Given the description of an element on the screen output the (x, y) to click on. 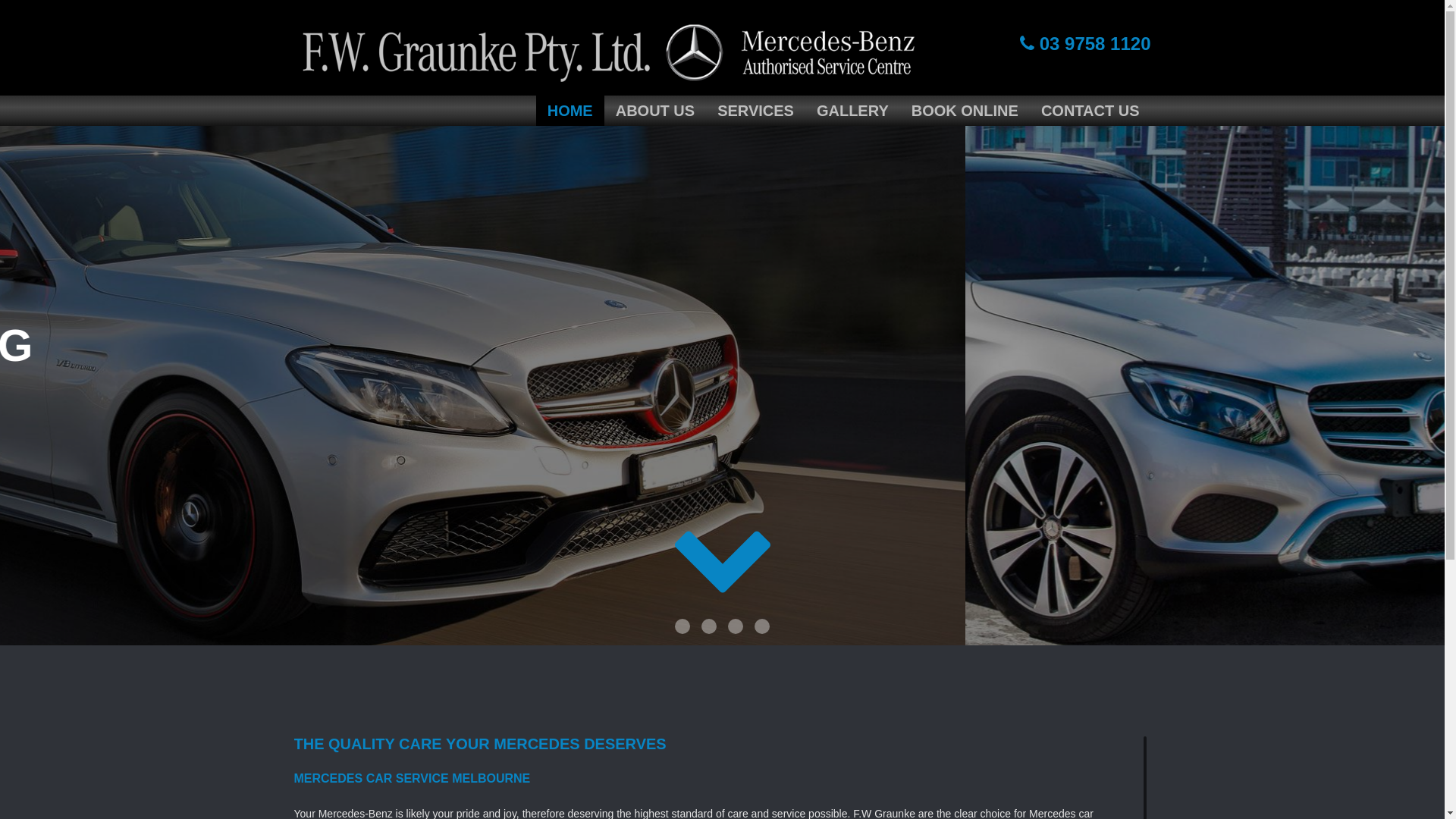
ABOUT US Element type: text (655, 110)
HOME Element type: text (570, 110)
Click here for more info Element type: text (126, 432)
GALLERY Element type: text (852, 110)
03 9758 1120 Element type: text (1084, 43)
SERVICES Element type: text (755, 110)
BOOK ONLINE Element type: text (964, 110)
F.W. Graunke Pty. Ltd. Element type: hover (605, 46)
CONTACT US Element type: text (1090, 110)
